Given the description of an element on the screen output the (x, y) to click on. 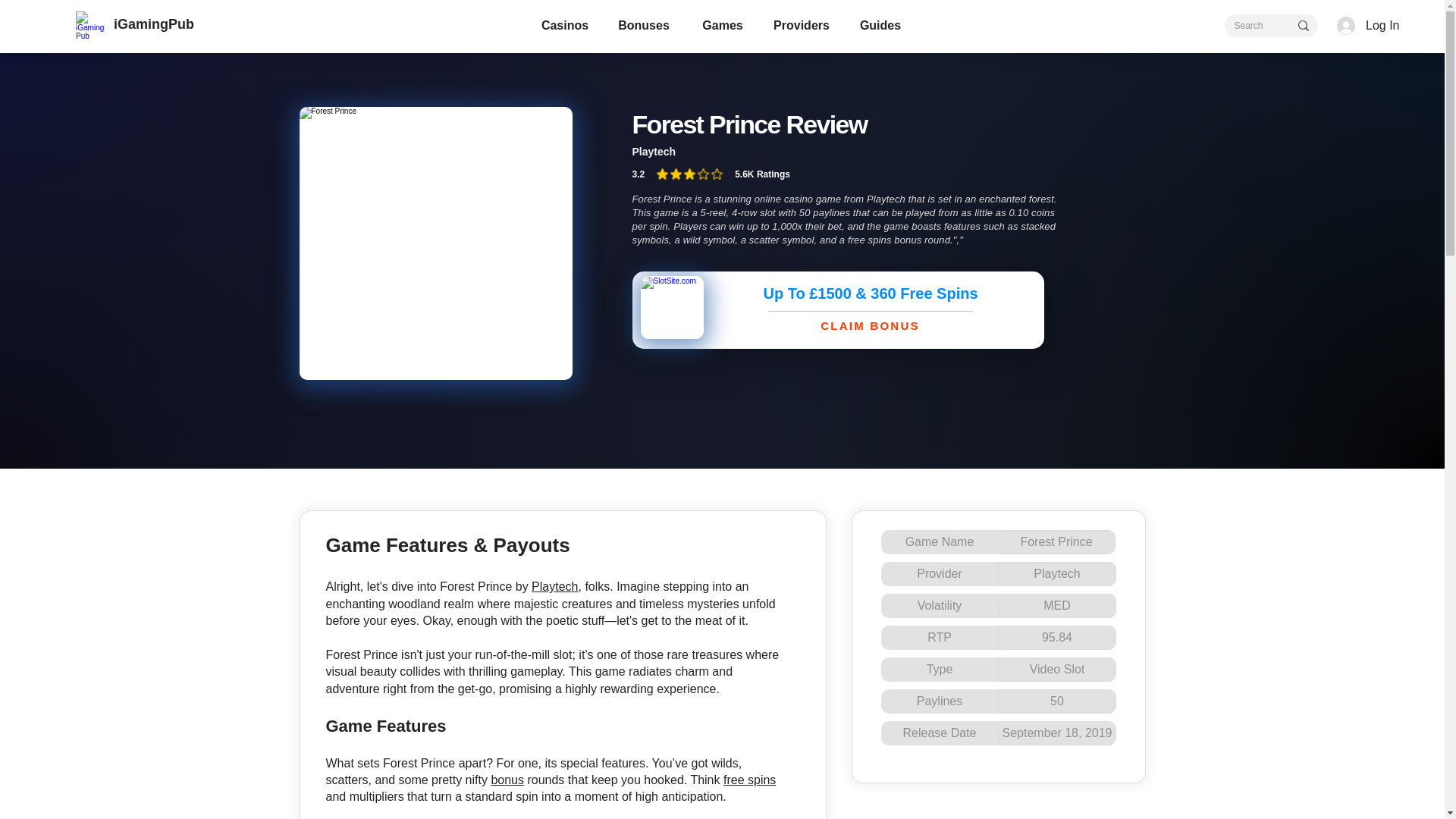
Game Name (939, 541)
Playtech (554, 585)
bonus (507, 779)
September 18, 2019 (1056, 733)
free spins (749, 779)
Release Date (939, 733)
Casinos (564, 25)
Type (939, 669)
iGamingPub (153, 23)
SlotSite Com.webp (671, 307)
